Given the description of an element on the screen output the (x, y) to click on. 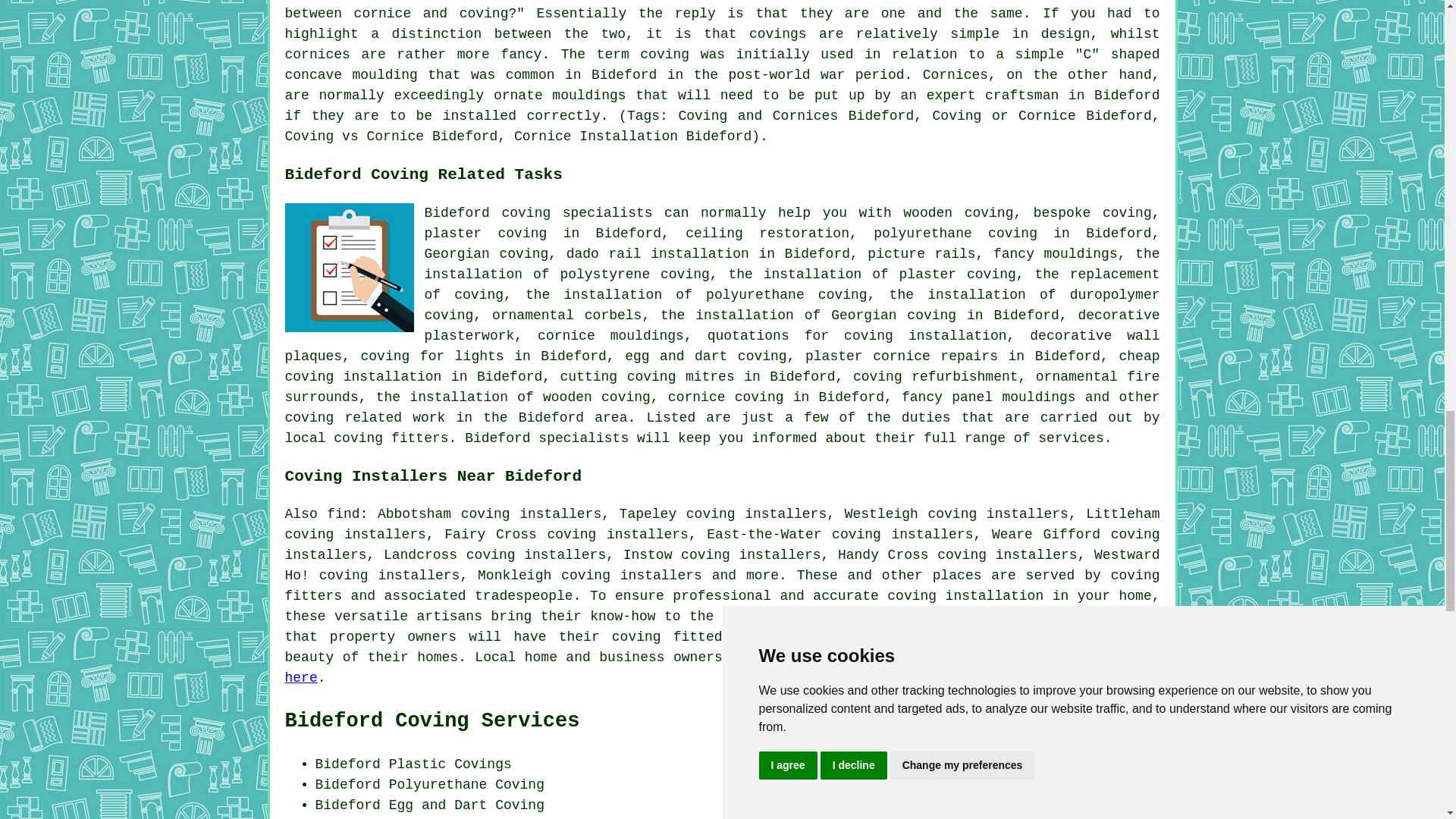
Coving Related Tasks Bideford (349, 267)
coving fitters (722, 585)
local coving fitters (366, 437)
polyurethane coving (954, 233)
coving specialists (576, 212)
plaster cornice repairs (901, 355)
